Given the description of an element on the screen output the (x, y) to click on. 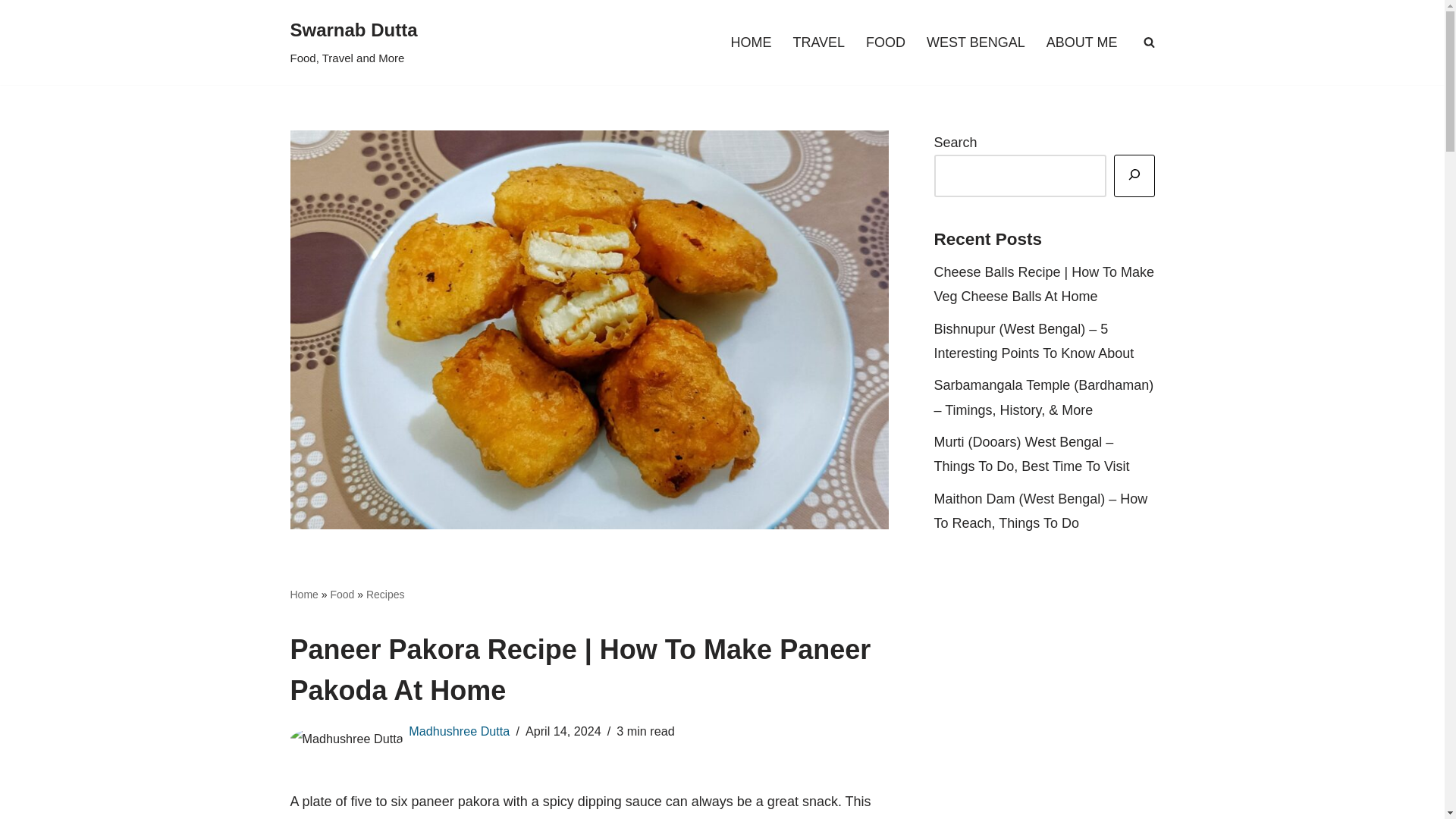
FOOD (885, 42)
Home (303, 594)
Madhushree Dutta (459, 730)
Food (341, 594)
WEST BENGAL (975, 42)
Recipes (385, 594)
TRAVEL (818, 42)
Posts by Madhushree Dutta (459, 730)
ABOUT ME (352, 42)
